Given the description of an element on the screen output the (x, y) to click on. 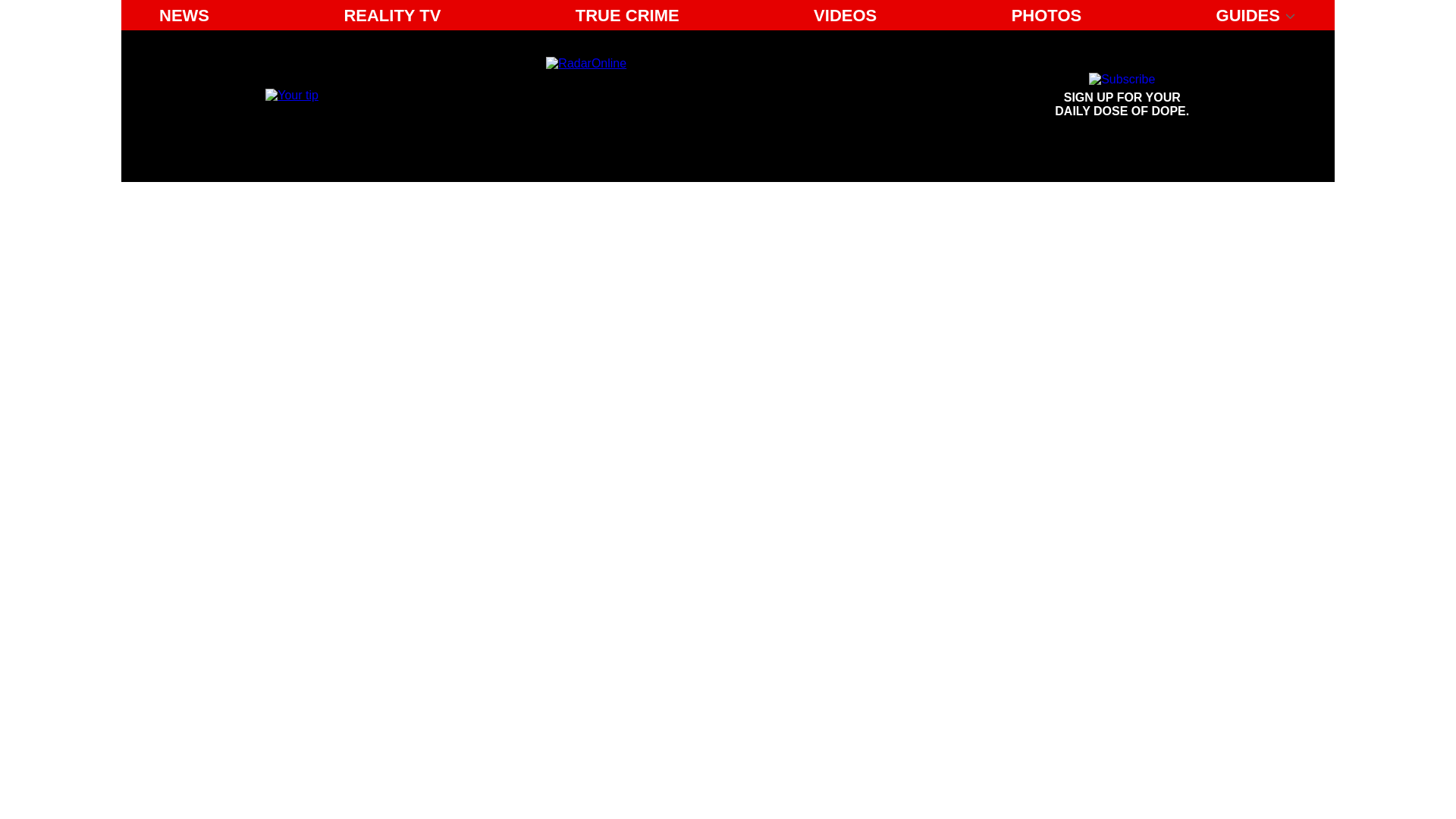
TRUE CRIME (627, 15)
REALITY TV (392, 15)
Radar Online (685, 95)
PHOTOS (1046, 15)
NEWS (183, 15)
Email us your tip (291, 94)
VIDEOS (844, 15)
Sign up for your daily dose of dope. (1122, 94)
